Given the description of an element on the screen output the (x, y) to click on. 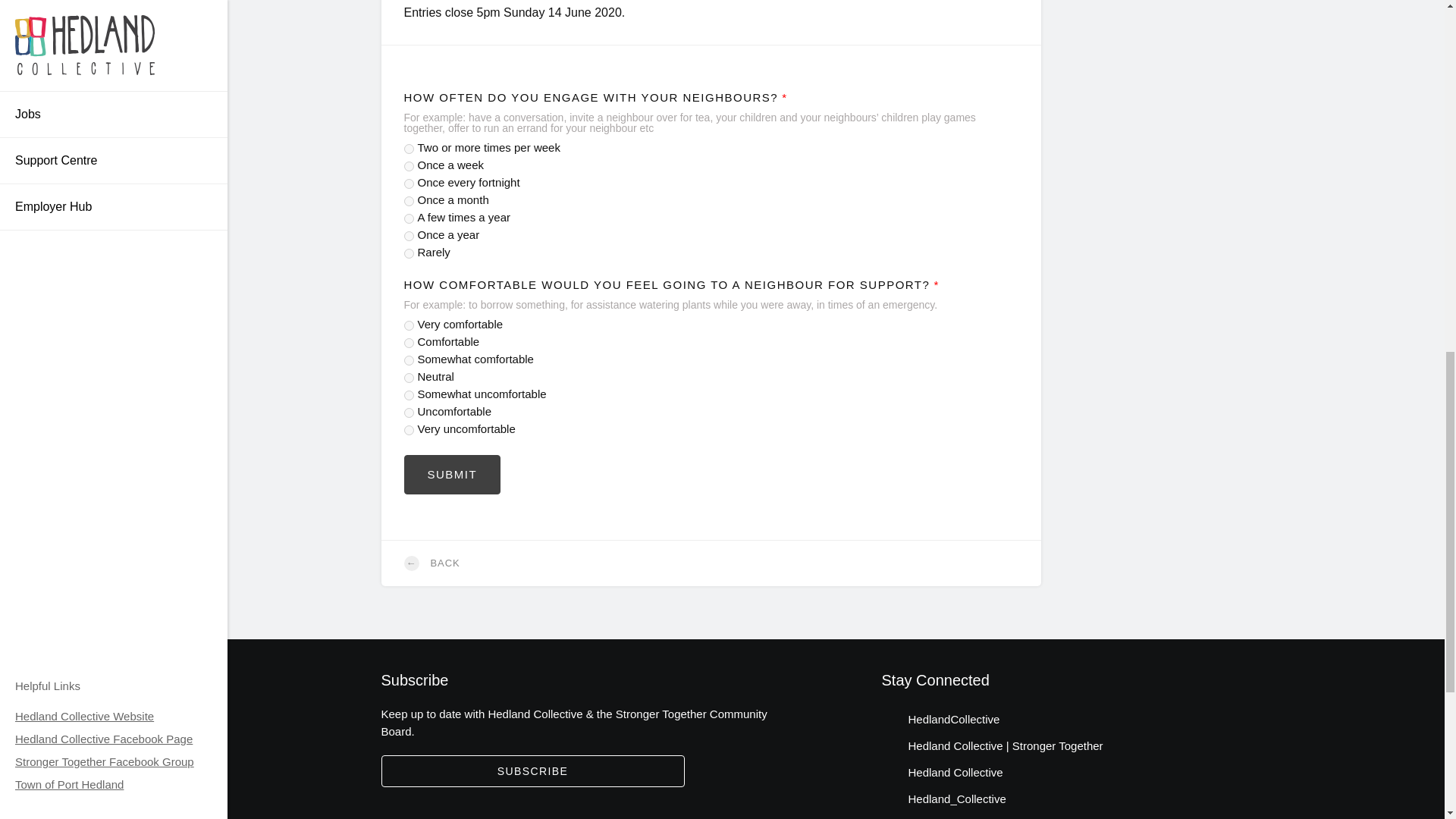
Comfortable (408, 343)
Somewhat comfortable (408, 360)
Subscribe (532, 771)
Somewhat uncomfortable (408, 395)
Once a year (408, 235)
Once a month (408, 201)
Rarely (408, 253)
Hedland Collective (941, 772)
Once a week (408, 166)
A few times a year (408, 218)
